Given the description of an element on the screen output the (x, y) to click on. 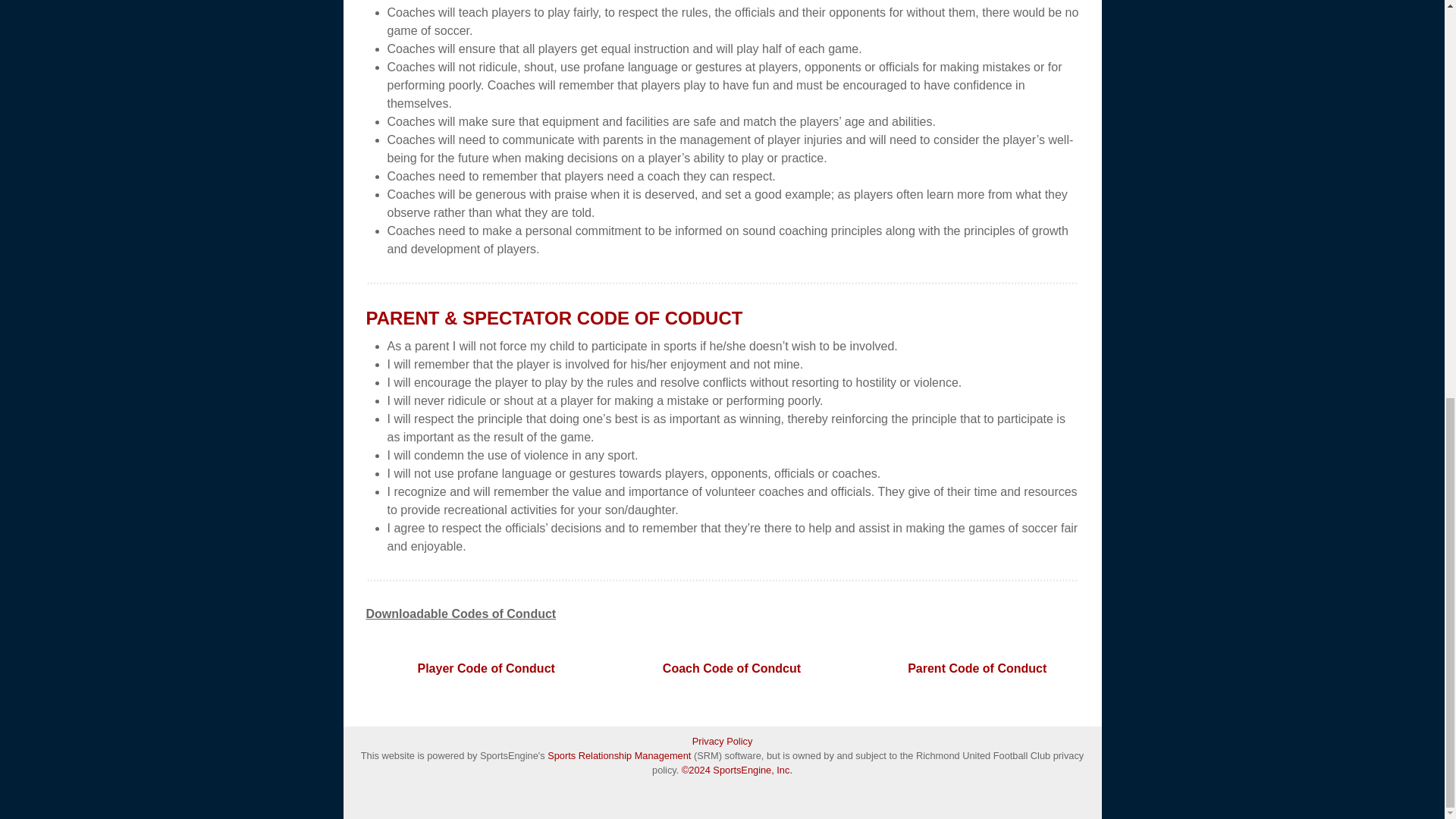
Player Code of Conduct (485, 667)
Privacy Policy (722, 740)
Parent Code of Conduct (976, 667)
Sports Relationship Management (620, 755)
Coach Code of Condcut (731, 667)
